Given the description of an element on the screen output the (x, y) to click on. 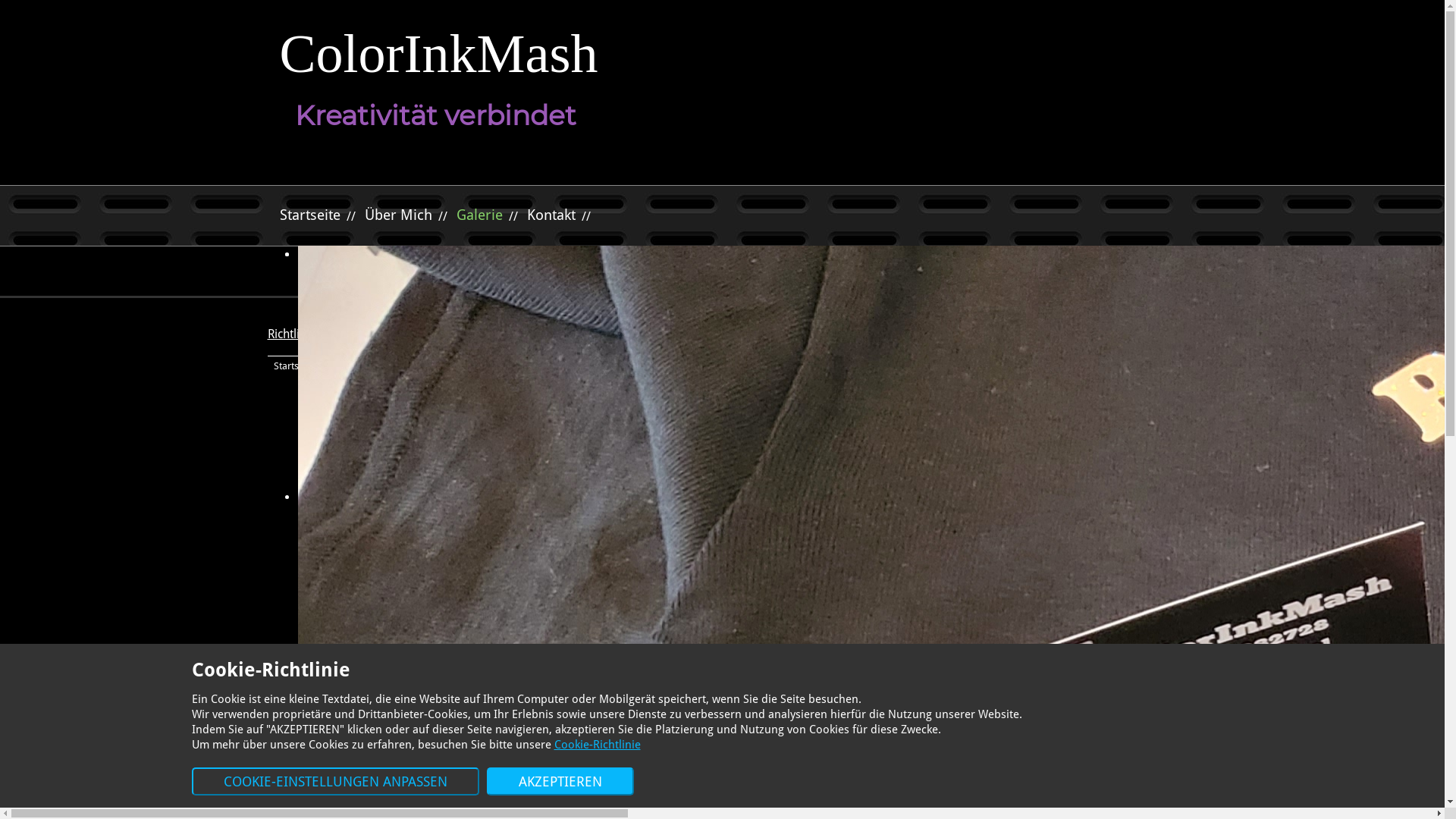
Galerie Element type: text (479, 215)
Galerie Element type: text (398, 365)
Startseite Element type: text (293, 365)
Cookie-Richtlinie Element type: text (596, 744)
Kontakt Element type: text (550, 215)
COOKIE-EINSTELLUNGEN ANPASSEN Element type: text (334, 781)
Startseite Element type: text (309, 215)
Los! Element type: text (1148, 269)
Richtlinien zu Cookies Element type: text (324, 333)
Kontakt Element type: text (444, 365)
AKZEPTIEREN Element type: text (559, 781)
